Given the description of an element on the screen output the (x, y) to click on. 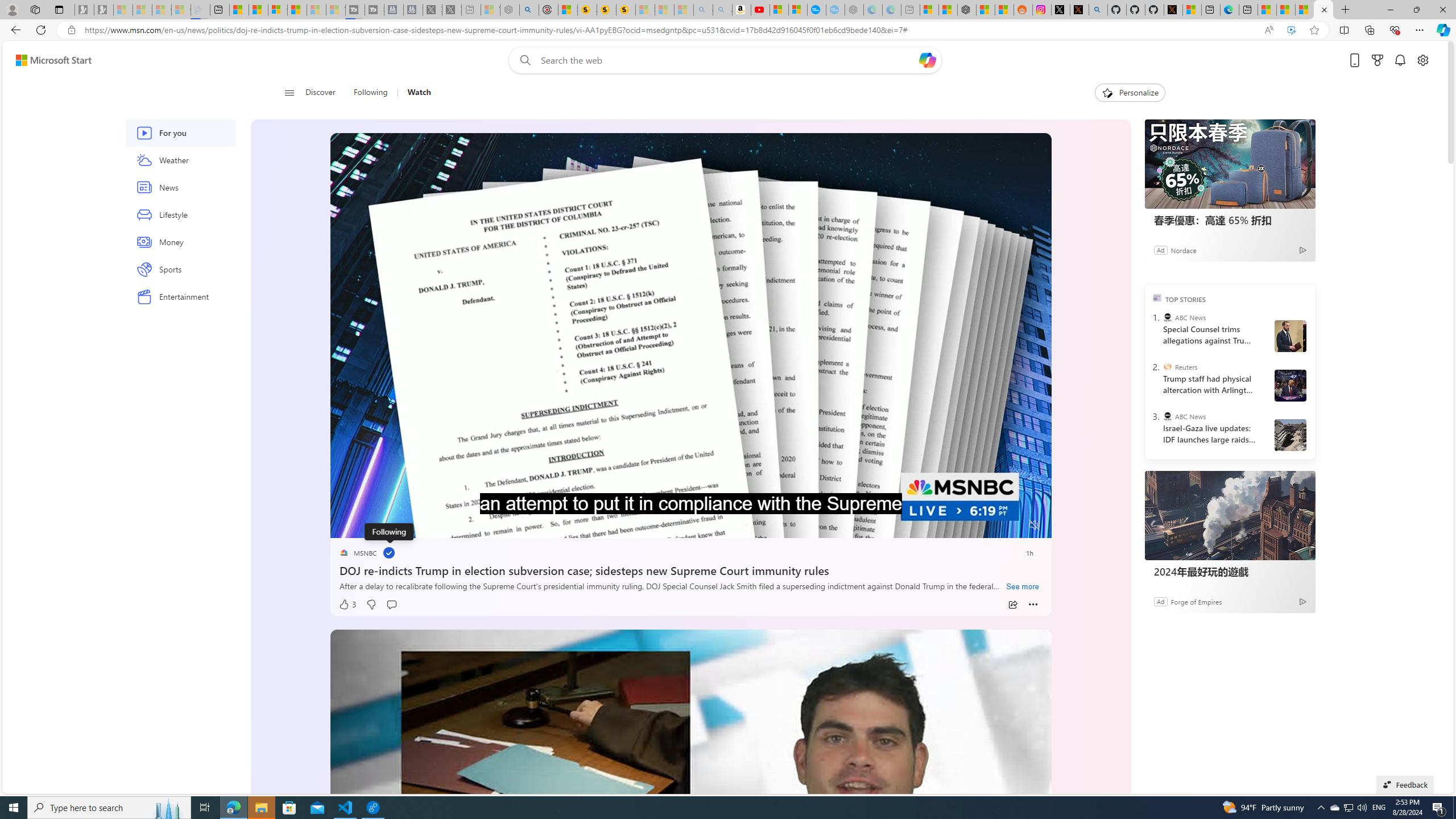
Quality Settings (967, 525)
